Given the description of an element on the screen output the (x, y) to click on. 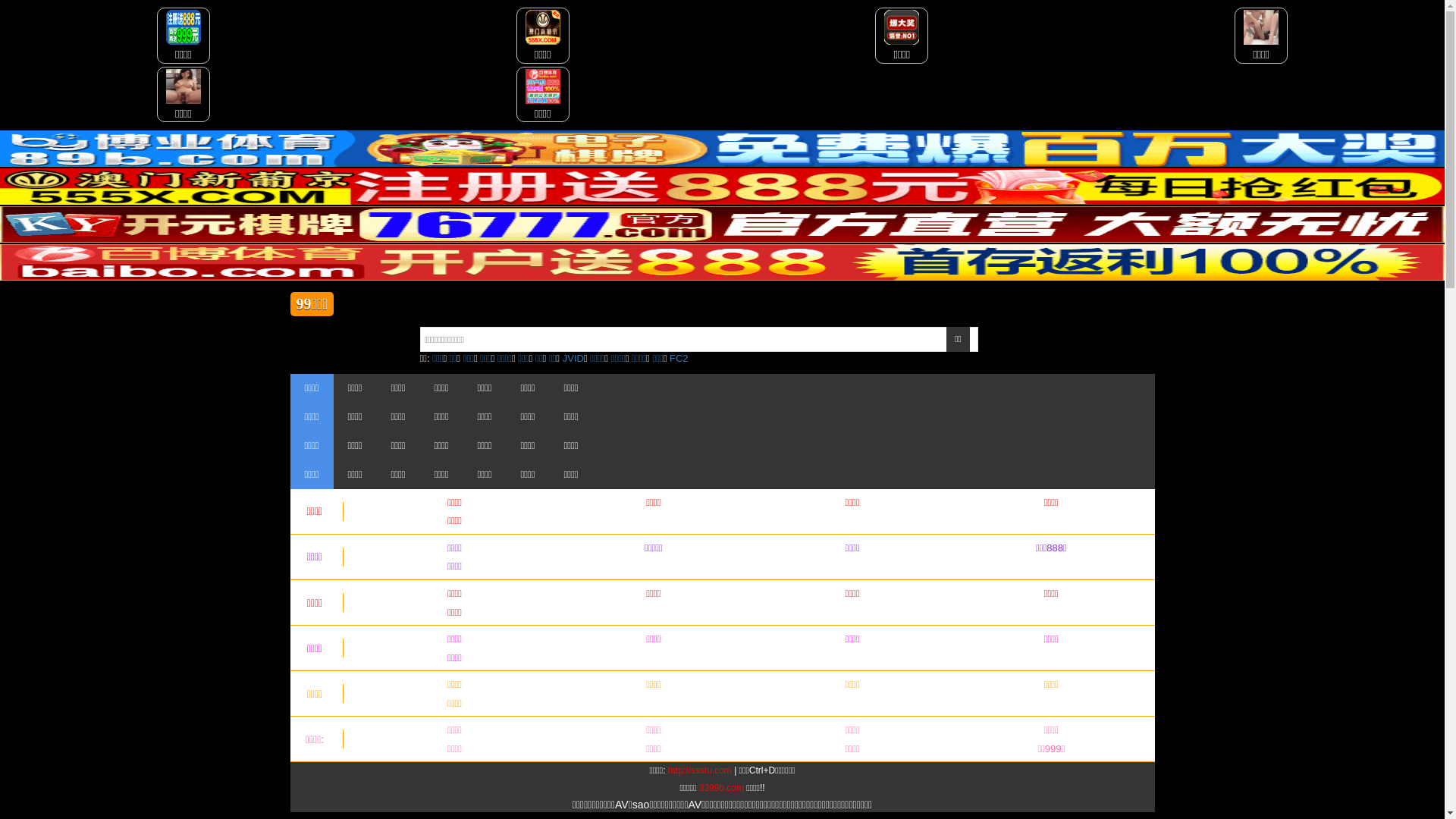
FC2 Element type: text (678, 358)
JVID Element type: text (572, 358)
